Given the description of an element on the screen output the (x, y) to click on. 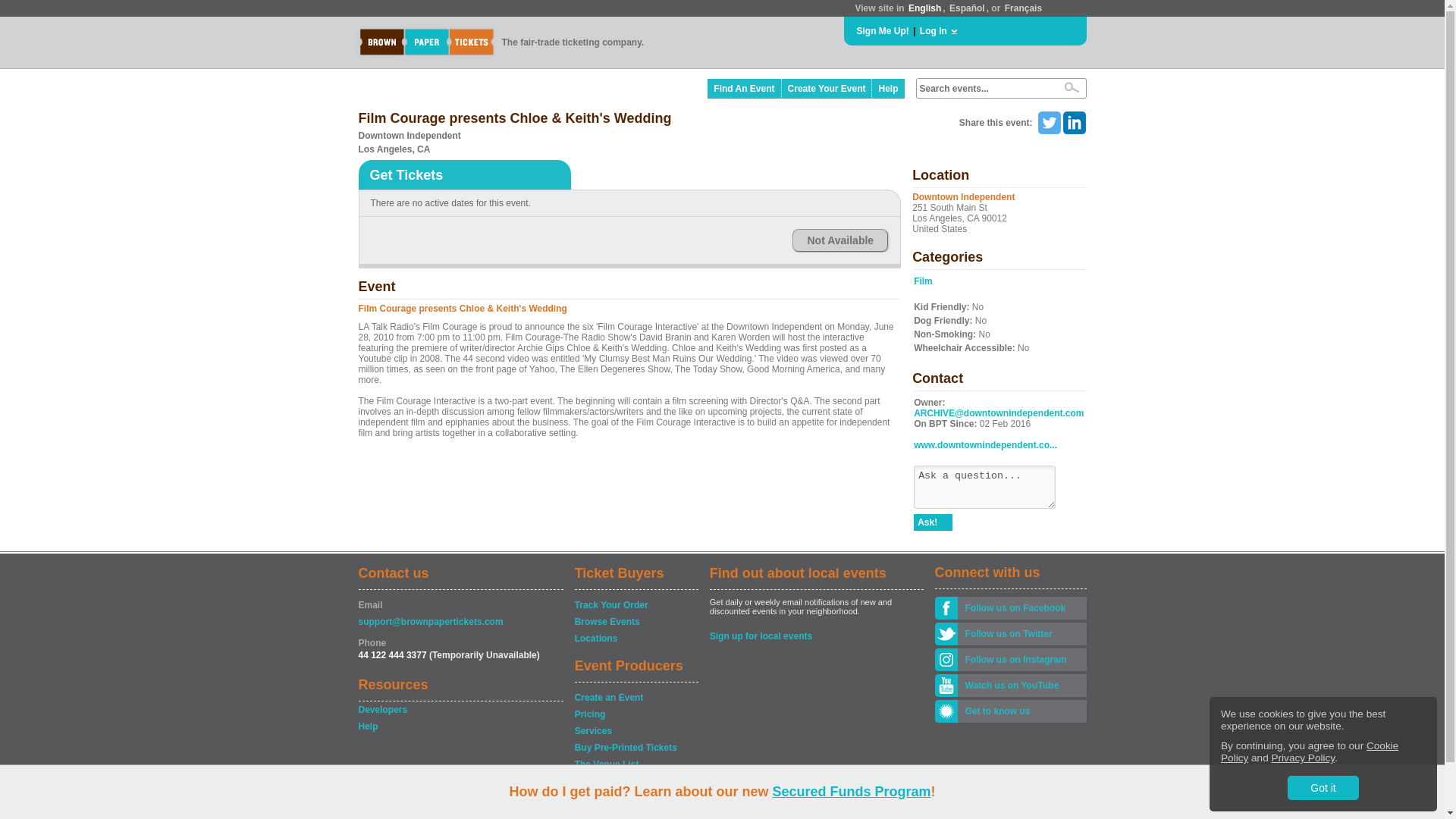
Create an Event (636, 697)
Services (636, 730)
Browse Events (636, 621)
Cookie Policy (1309, 751)
Sign Me Up! (883, 30)
Pricing (636, 713)
Search events... (984, 88)
Help (888, 88)
Ask! (933, 522)
English (924, 8)
Follow us on Twitter (1021, 633)
www.downtownindependent.co... (985, 444)
Film (923, 281)
Find An Event (743, 88)
Got it (1322, 787)
